Given the description of an element on the screen output the (x, y) to click on. 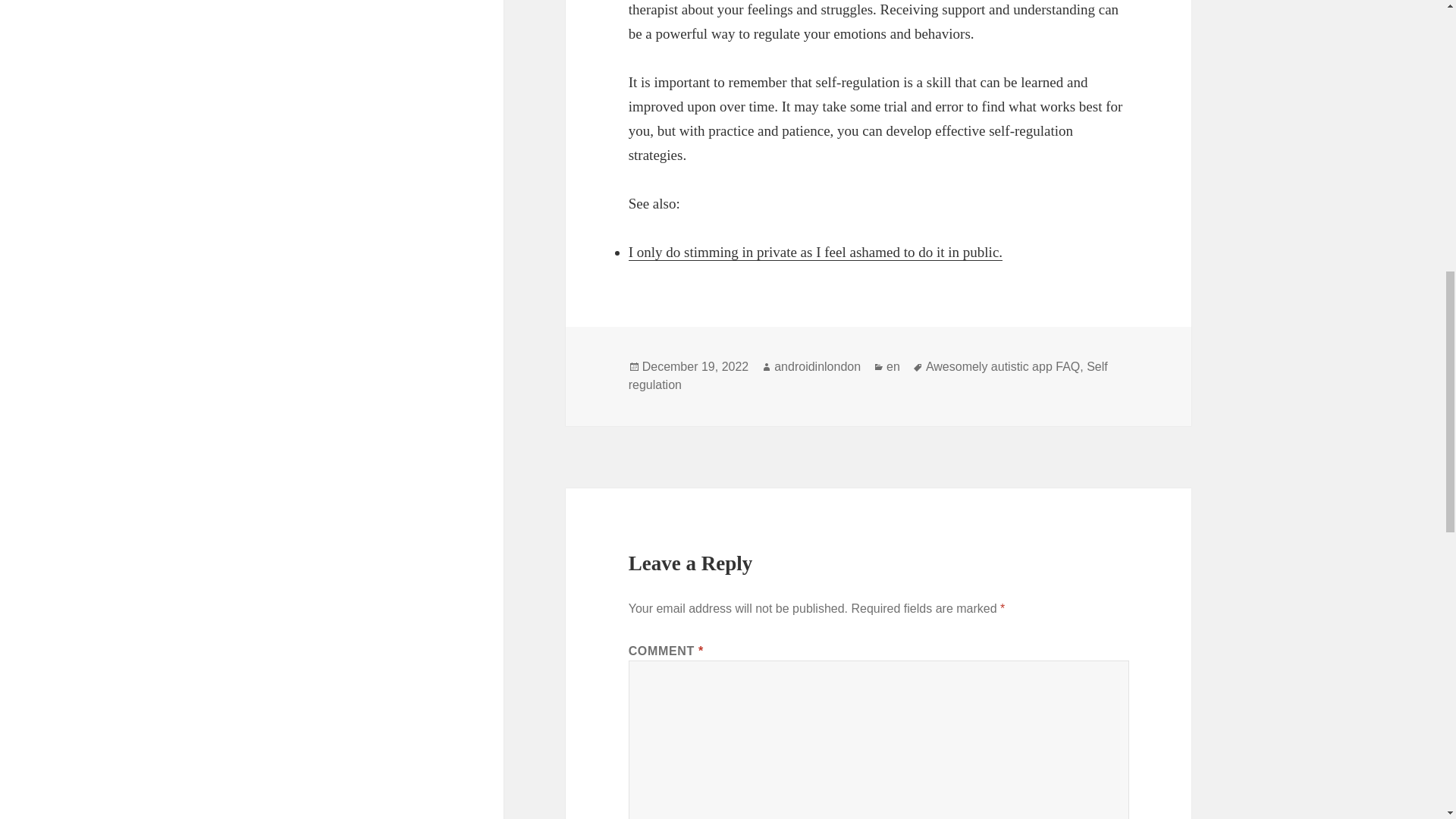
Awesomely autistic app FAQ (1003, 366)
Self regulation (868, 376)
December 19, 2022 (695, 366)
androidinlondon (817, 366)
en (892, 366)
